Given the description of an element on the screen output the (x, y) to click on. 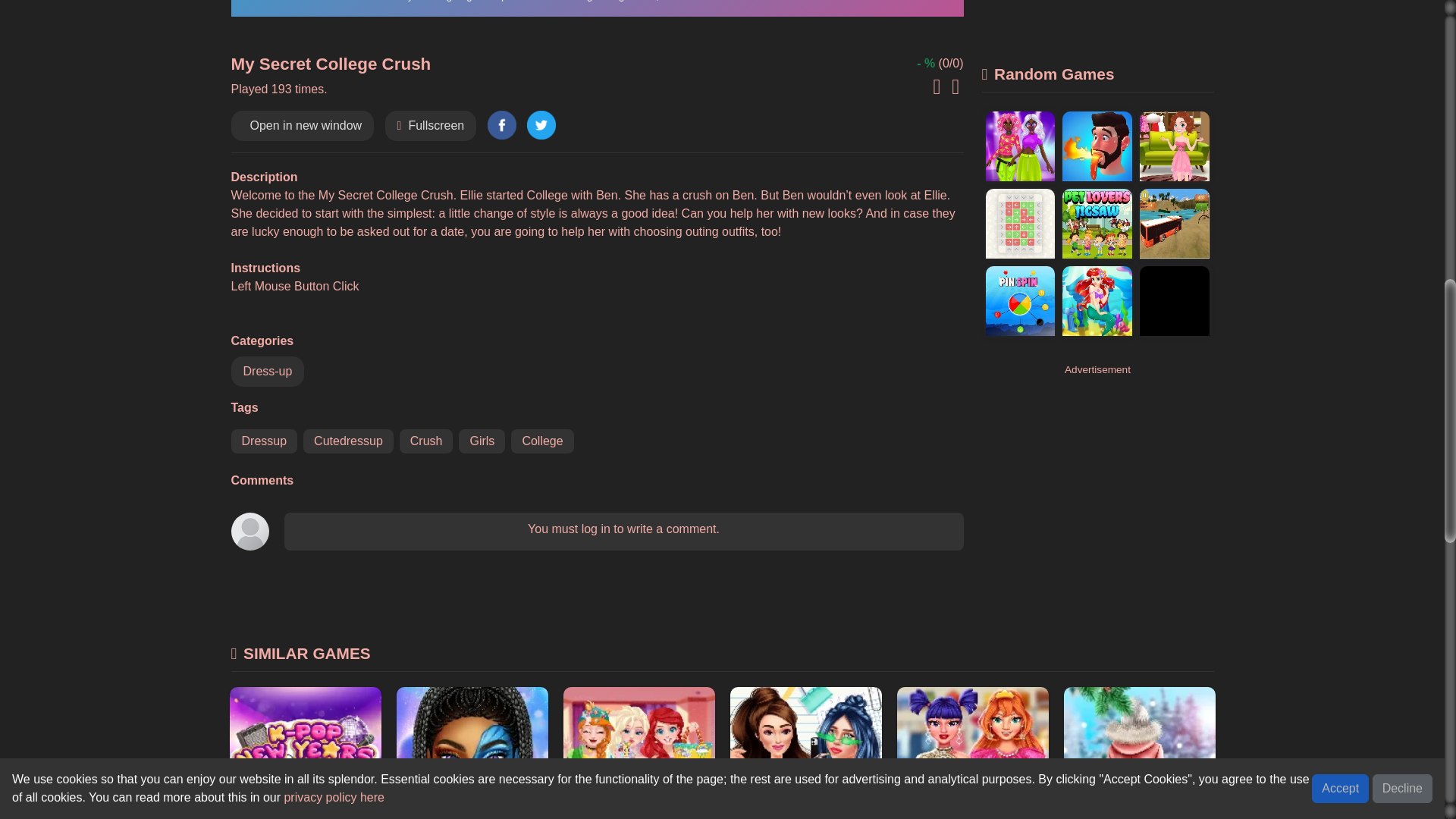
Advertisement (1097, 22)
